Given the description of an element on the screen output the (x, y) to click on. 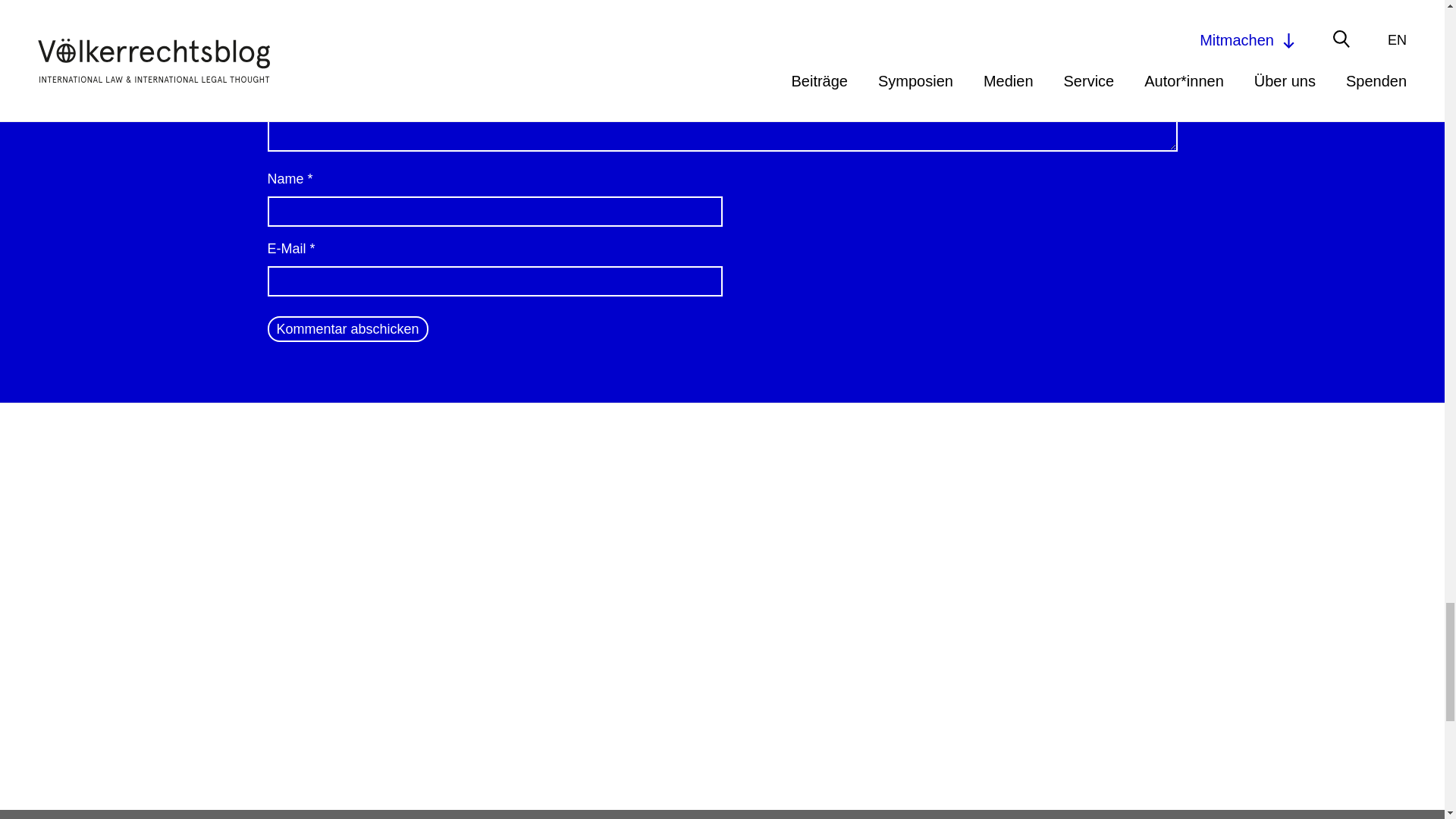
Kommentar abschicken (347, 329)
